Given the description of an element on the screen output the (x, y) to click on. 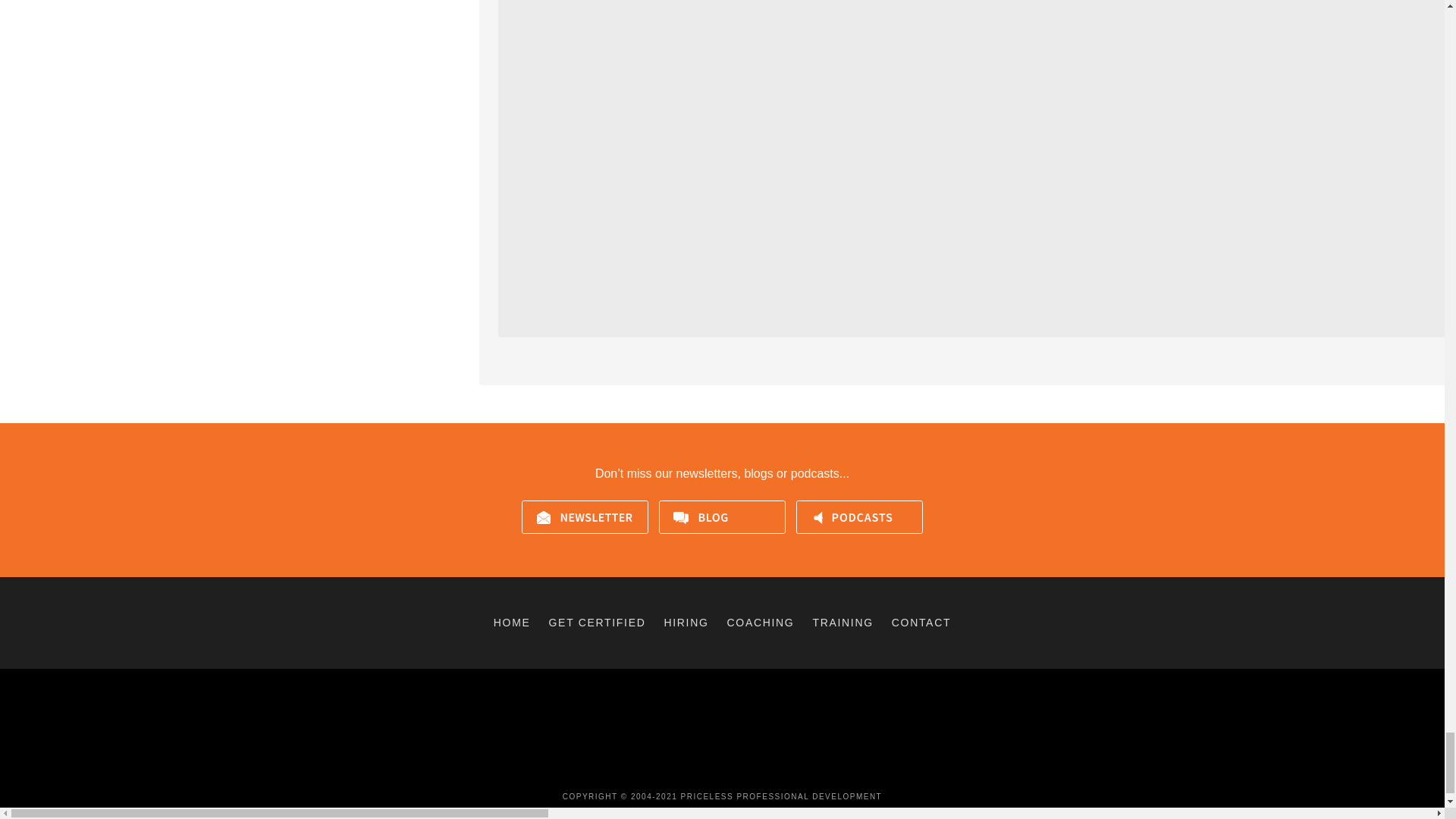
Priceless Professional RSS Feed (755, 769)
Priceless Professional on Twitter (711, 769)
Priceless Professional on LinkedIn (733, 769)
Priceless Professional on Facebook (689, 769)
